Given the description of an element on the screen output the (x, y) to click on. 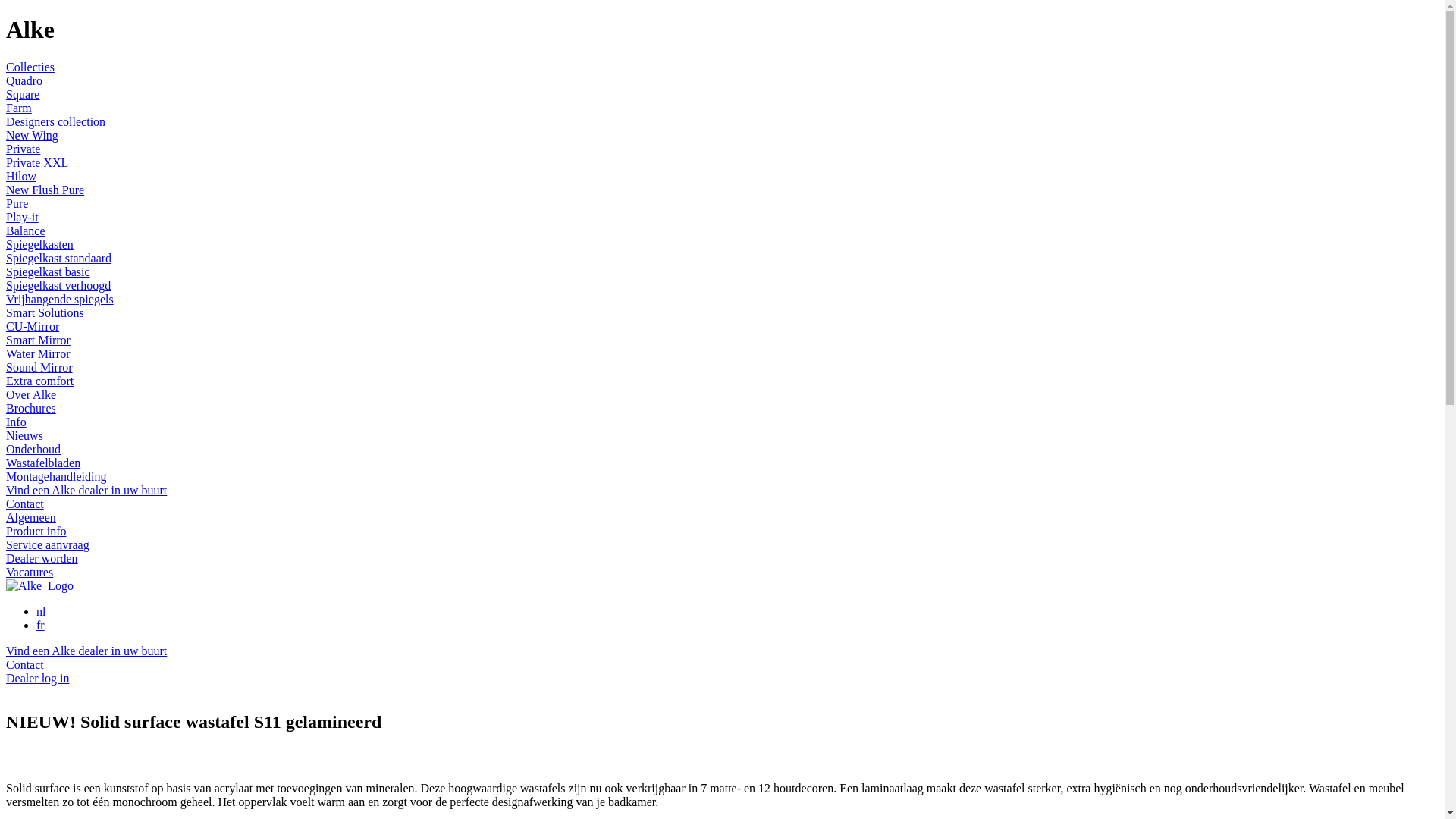
CU-Mirror Element type: text (32, 326)
Algemeen Element type: text (31, 517)
Over Alke Element type: text (31, 394)
Hilow Element type: text (21, 175)
Balance Element type: text (25, 230)
Brochures Element type: text (31, 407)
New Wing Element type: text (32, 134)
Designers collection Element type: text (55, 121)
fr Element type: text (40, 624)
Dealer log in Element type: text (37, 677)
Square Element type: text (22, 93)
Extra comfort Element type: text (39, 380)
Play-it Element type: text (22, 216)
Vacatures Element type: text (29, 571)
Spiegelkast basic Element type: text (48, 271)
Product info Element type: text (36, 530)
Smart Solutions Element type: text (45, 312)
Montagehandleiding Element type: text (56, 476)
Collecties Element type: text (30, 66)
Smart Mirror Element type: text (38, 339)
Spiegelkast standaard Element type: text (58, 257)
Contact Element type: text (24, 503)
Water Mirror Element type: text (37, 353)
Spiegelkast verhoogd Element type: text (58, 285)
Spiegelkasten Element type: text (39, 244)
Vind een Alke dealer in uw buurt Element type: text (86, 489)
Onderhoud Element type: text (33, 448)
Contact Element type: text (24, 664)
Sound Mirror Element type: text (39, 366)
Service aanvraag Element type: text (47, 544)
New Flush Pure Element type: text (45, 189)
Private XXL Element type: text (37, 162)
Private Element type: text (23, 148)
Info Element type: text (16, 421)
Pure Element type: text (17, 203)
Vind een Alke dealer in uw buurt Element type: text (86, 650)
Quadro Element type: text (24, 80)
Wastafelbladen Element type: text (43, 462)
Nieuws Element type: text (24, 435)
nl Element type: text (40, 611)
Farm Element type: text (18, 107)
Vrijhangende spiegels Element type: text (59, 298)
Dealer worden Element type: text (42, 558)
